Given the description of an element on the screen output the (x, y) to click on. 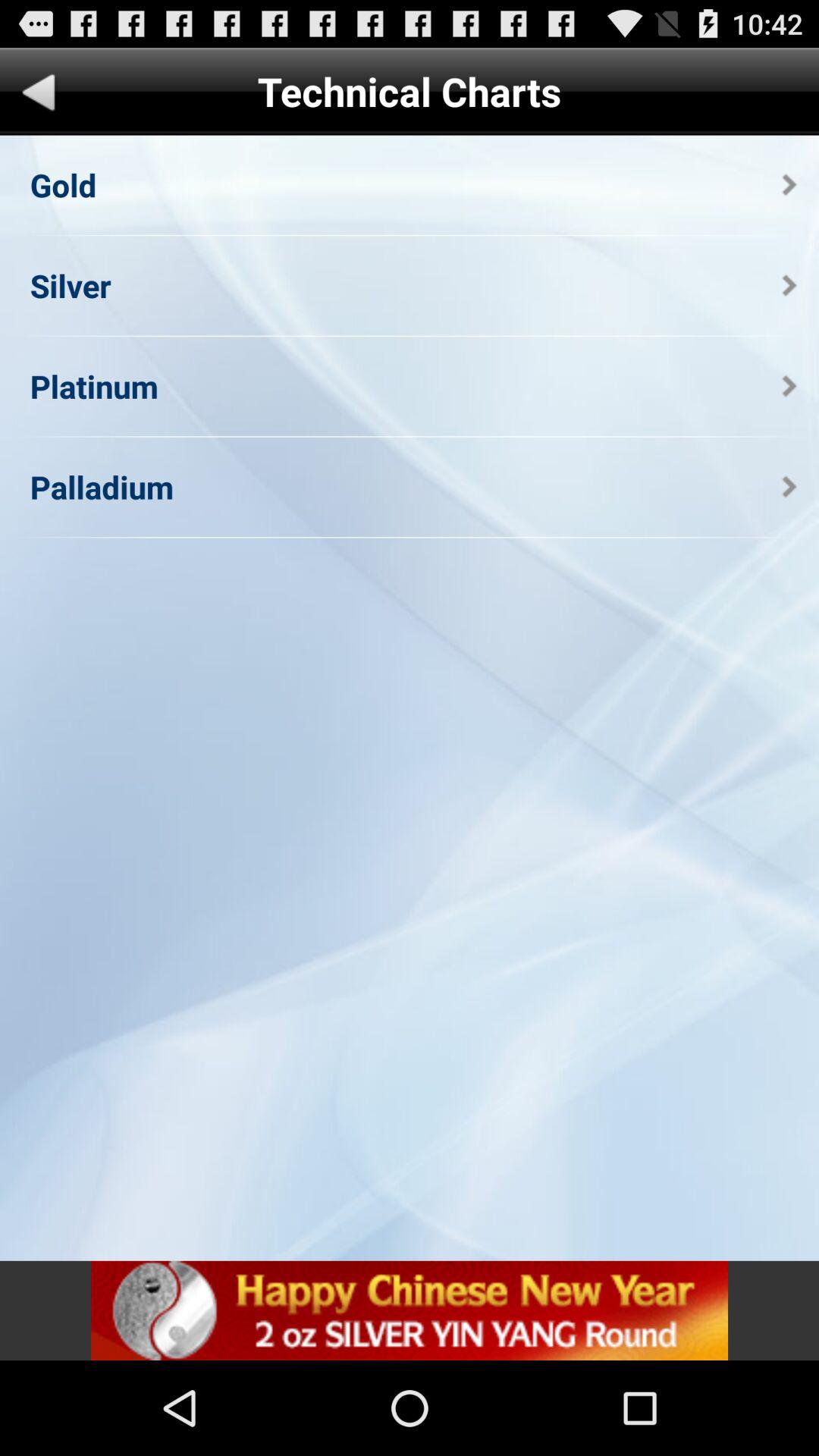
go back (39, 95)
